Given the description of an element on the screen output the (x, y) to click on. 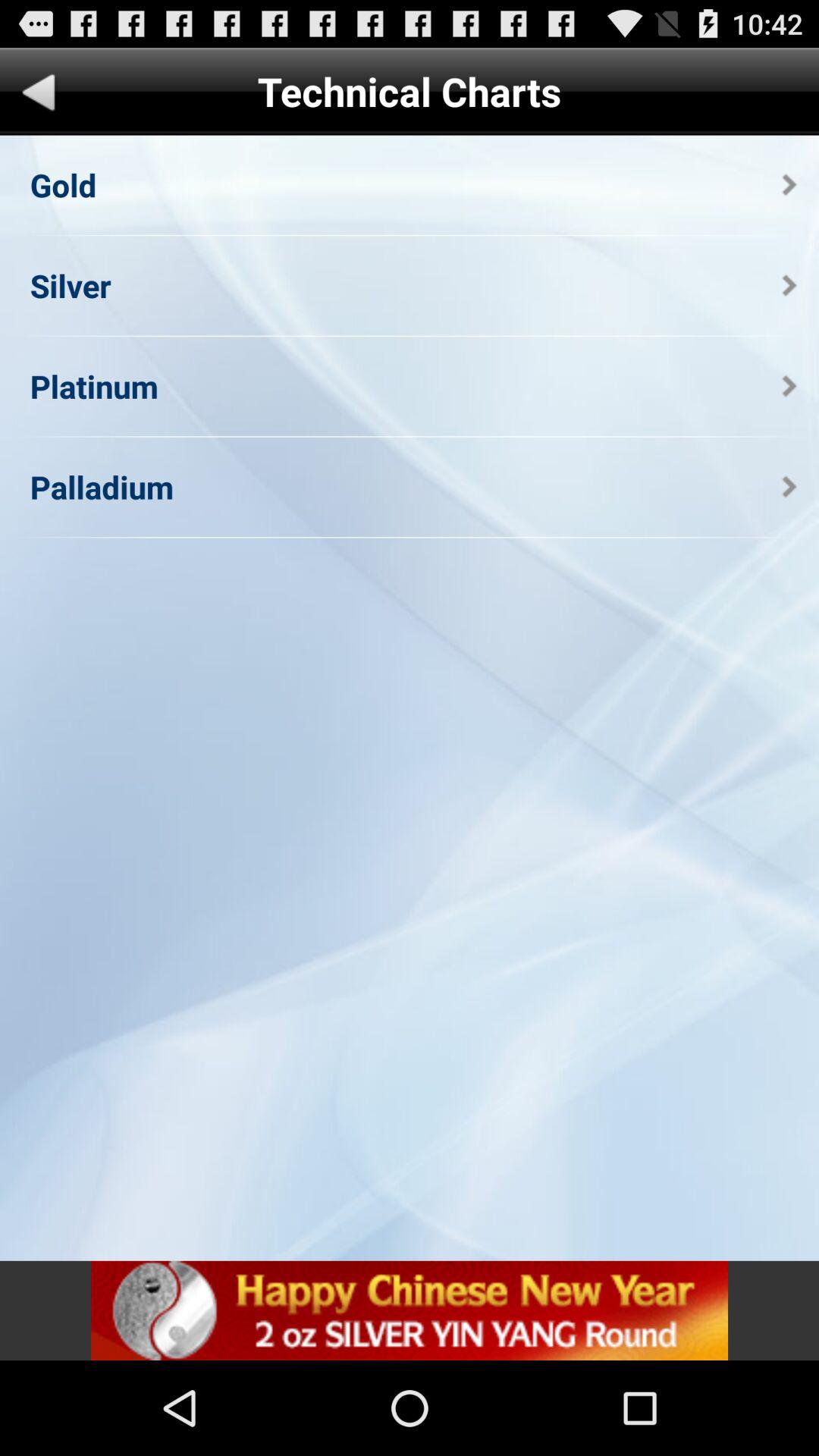
go back (39, 95)
